Given the description of an element on the screen output the (x, y) to click on. 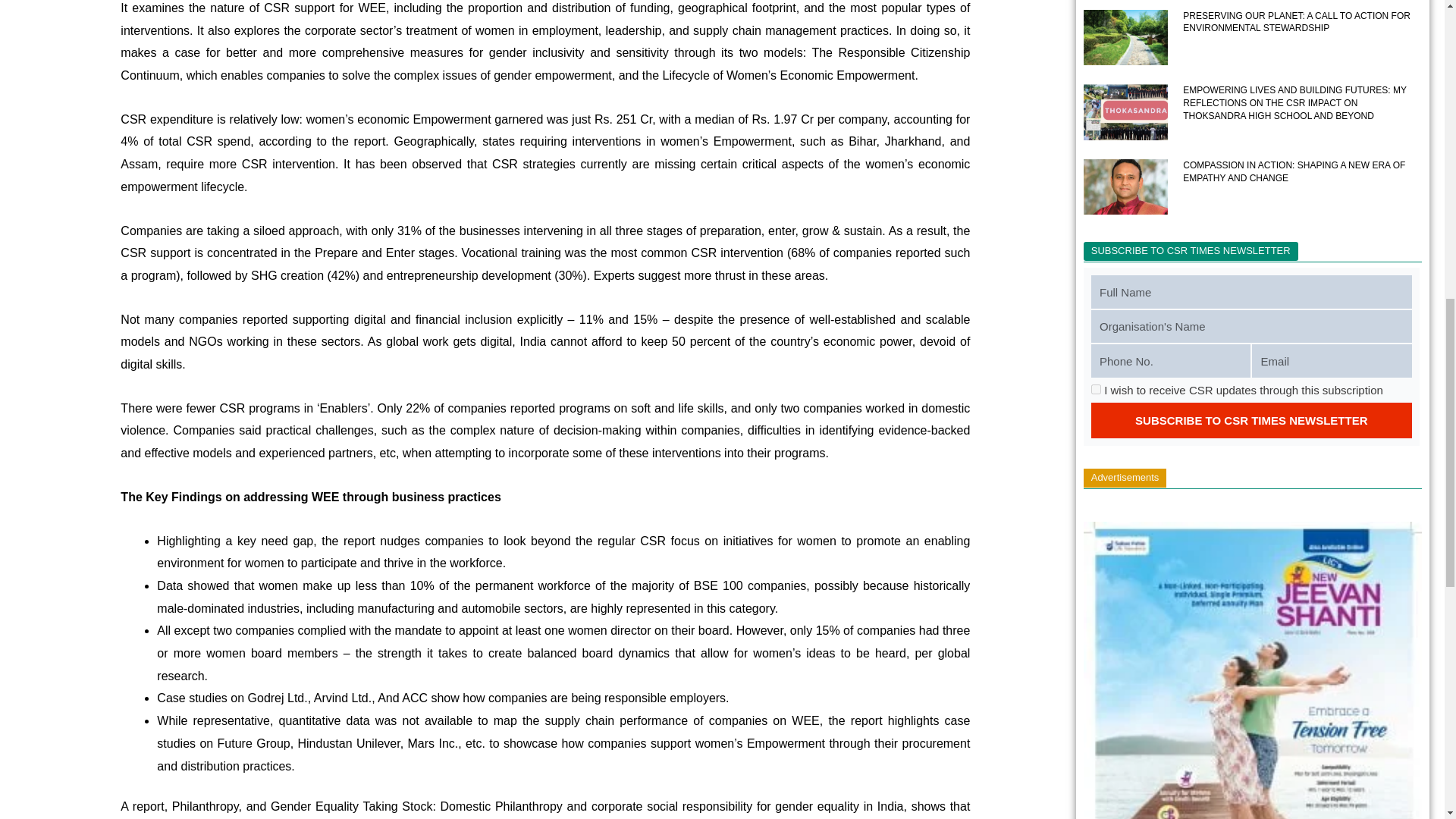
on (1095, 388)
